Given the description of an element on the screen output the (x, y) to click on. 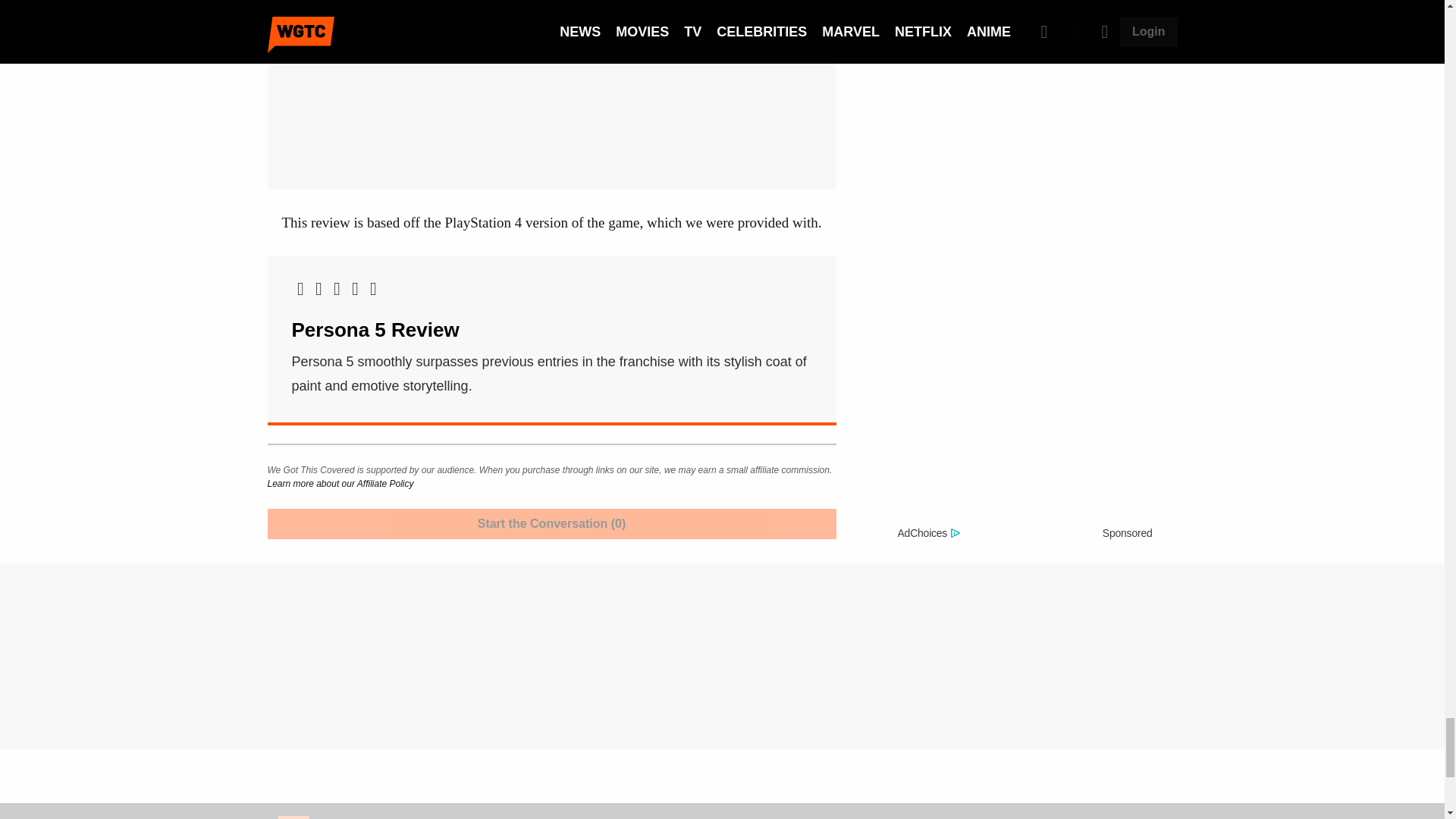
ad content (1025, 418)
